Given the description of an element on the screen output the (x, y) to click on. 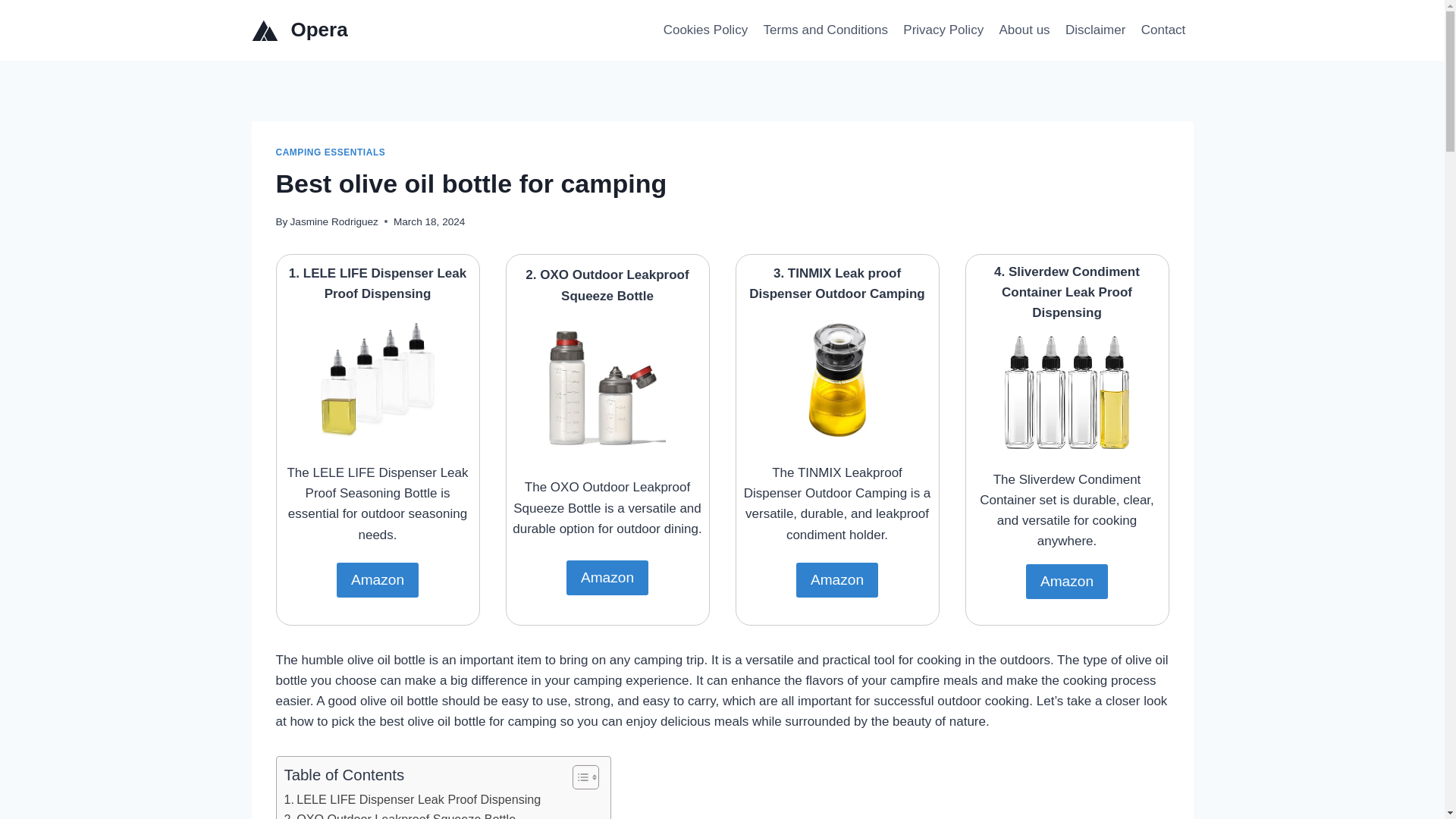
Opera (299, 29)
CAMPING ESSENTIALS (330, 152)
OXO Outdoor Leakproof Squeeze Bottle (399, 814)
Terms and Conditions (825, 30)
Amazon (836, 579)
Amazon (377, 579)
Amazon (606, 577)
LELE LIFE Dispenser Leak Proof Dispensing (411, 799)
Cookies Policy (705, 30)
Amazon (1067, 581)
